Given the description of an element on the screen output the (x, y) to click on. 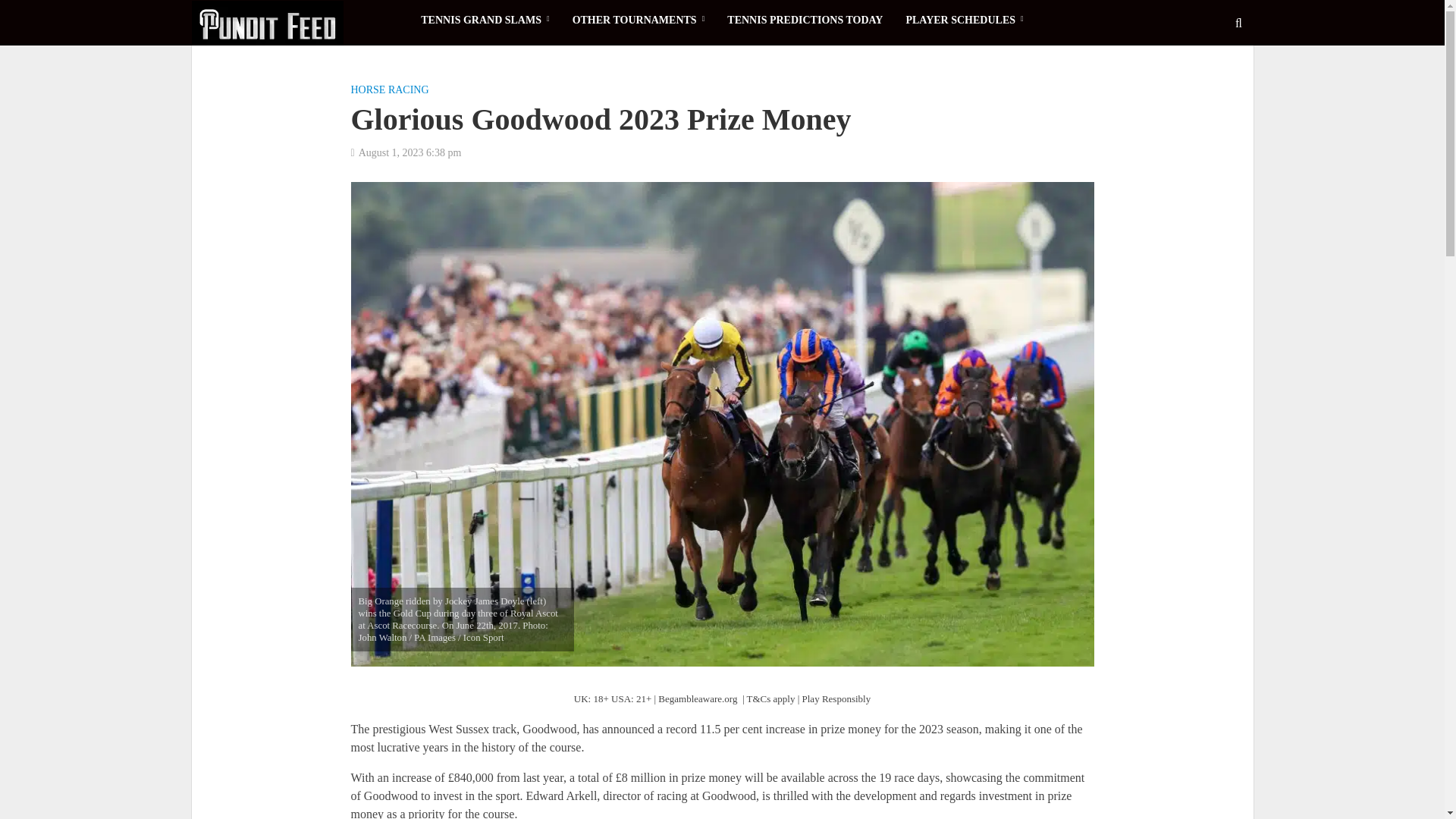
HORSE RACING (389, 91)
TENNIS GRAND SLAMS (484, 20)
OTHER TOURNAMENTS (638, 20)
TENNIS PREDICTIONS TODAY (804, 20)
PLAYER SCHEDULES (963, 20)
